Given the description of an element on the screen output the (x, y) to click on. 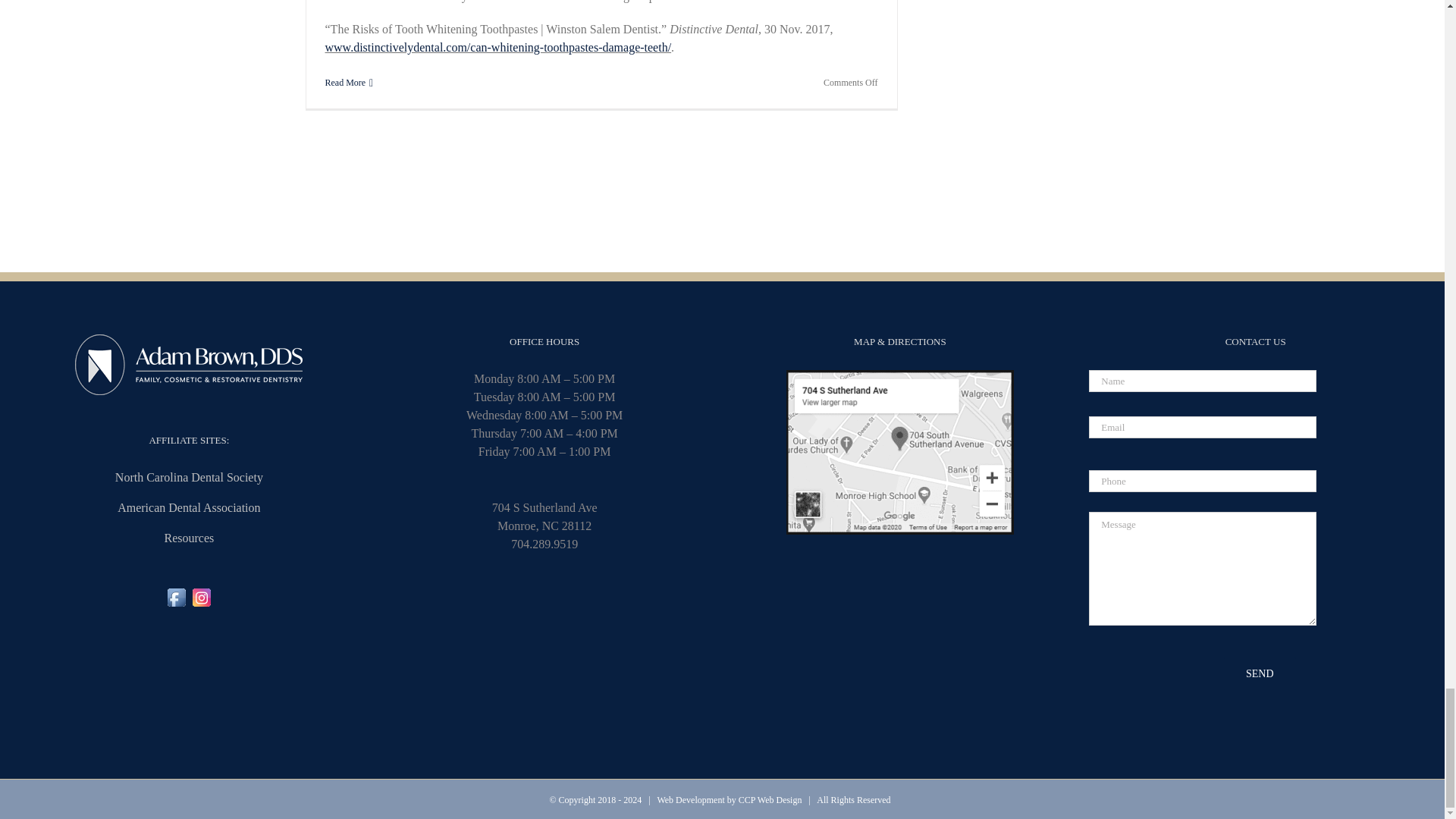
Email (1202, 427)
Visit Us On Facebook (176, 594)
Phone (1202, 481)
Name (1202, 381)
Send (1259, 673)
Visit Us On Instagram (201, 594)
